Given the description of an element on the screen output the (x, y) to click on. 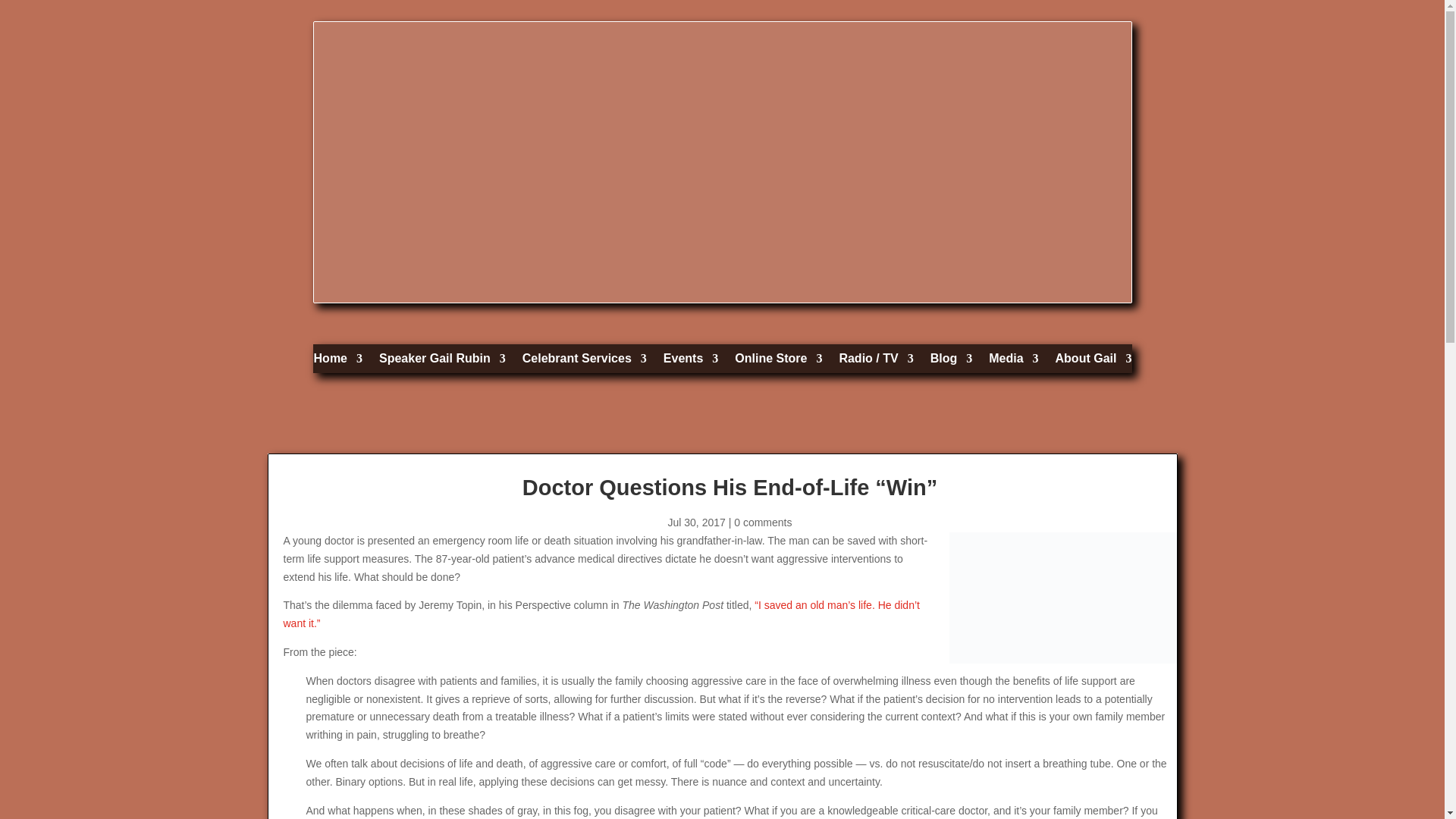
Speaker Gail Rubin (441, 361)
Funeral Services (584, 361)
Home (338, 361)
Blog (951, 361)
Celebrant Services (584, 361)
Online Store (778, 361)
About Gail (1093, 361)
Media (1013, 361)
Events (690, 361)
